Given the description of an element on the screen output the (x, y) to click on. 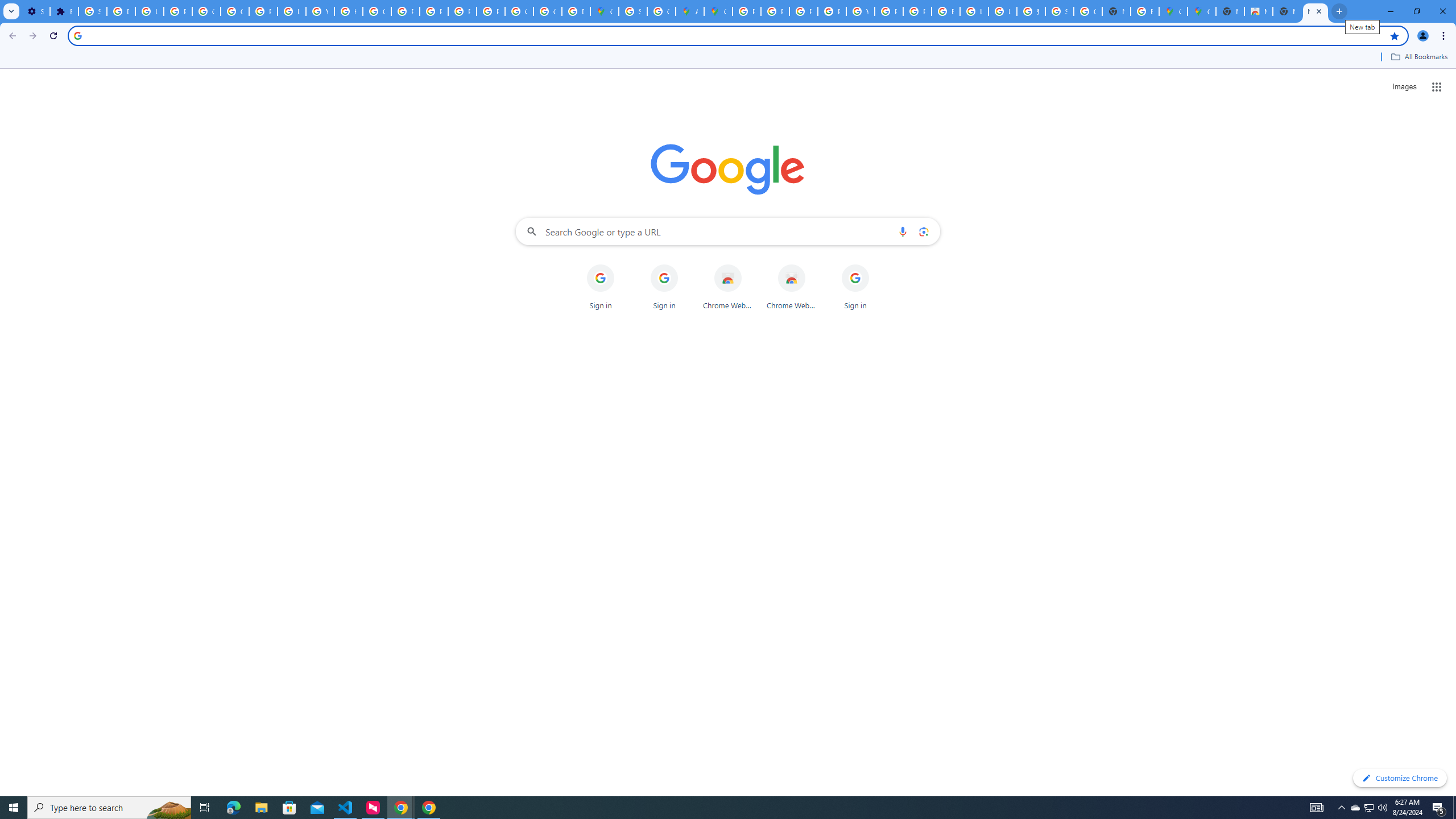
Google Maps (1201, 11)
New Tab (1230, 11)
YouTube (860, 11)
Delete photos & videos - Computer - Google Photos Help (120, 11)
